Given the description of an element on the screen output the (x, y) to click on. 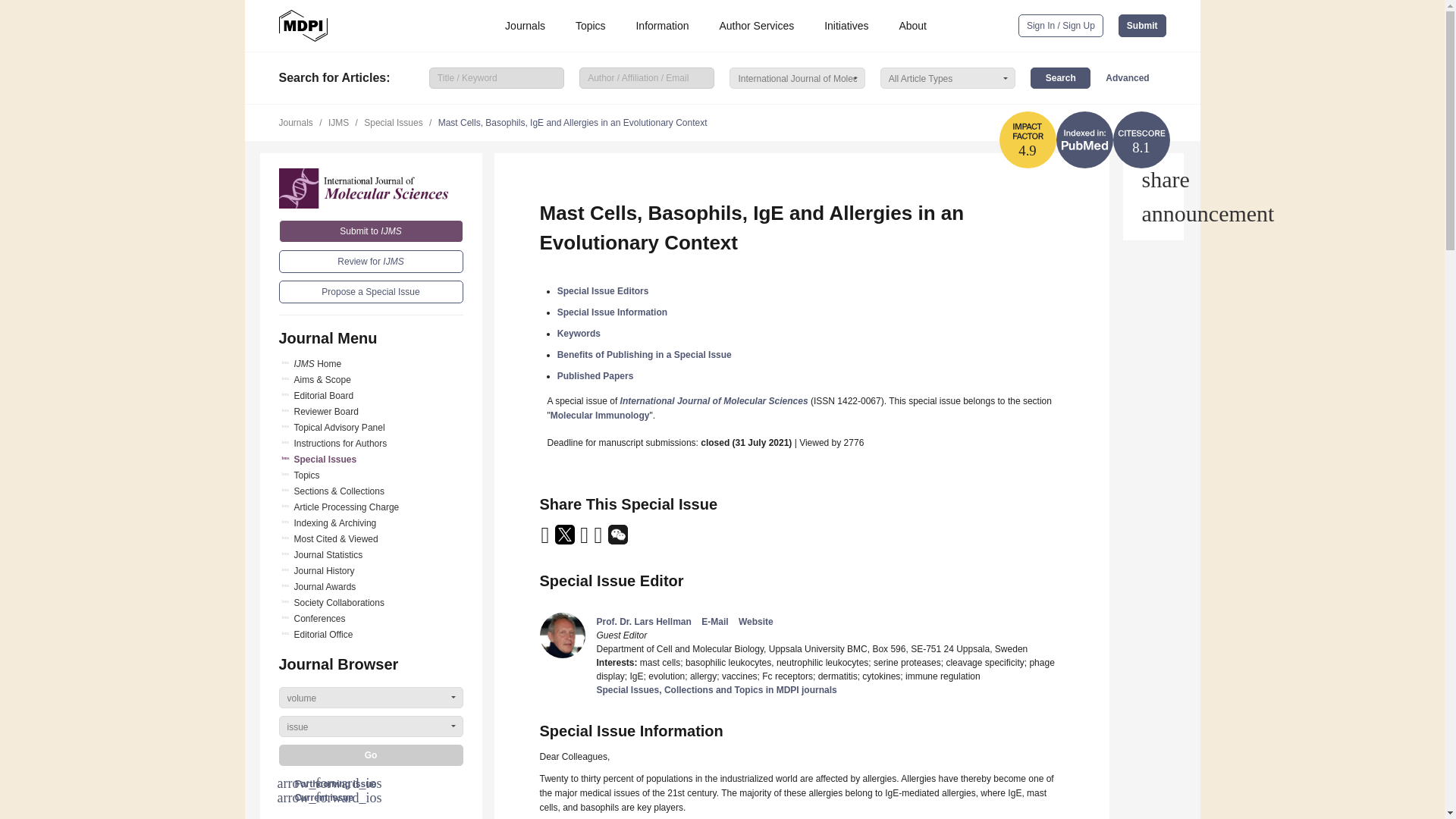
Wechat (617, 539)
Help (1152, 213)
MDPI Open Access Journals (303, 25)
Go (371, 754)
Email (546, 539)
LinkedIn (585, 539)
Share (1152, 179)
Twitter (565, 539)
Search (1060, 77)
International Journal of Molecular Sciences (371, 188)
